Given the description of an element on the screen output the (x, y) to click on. 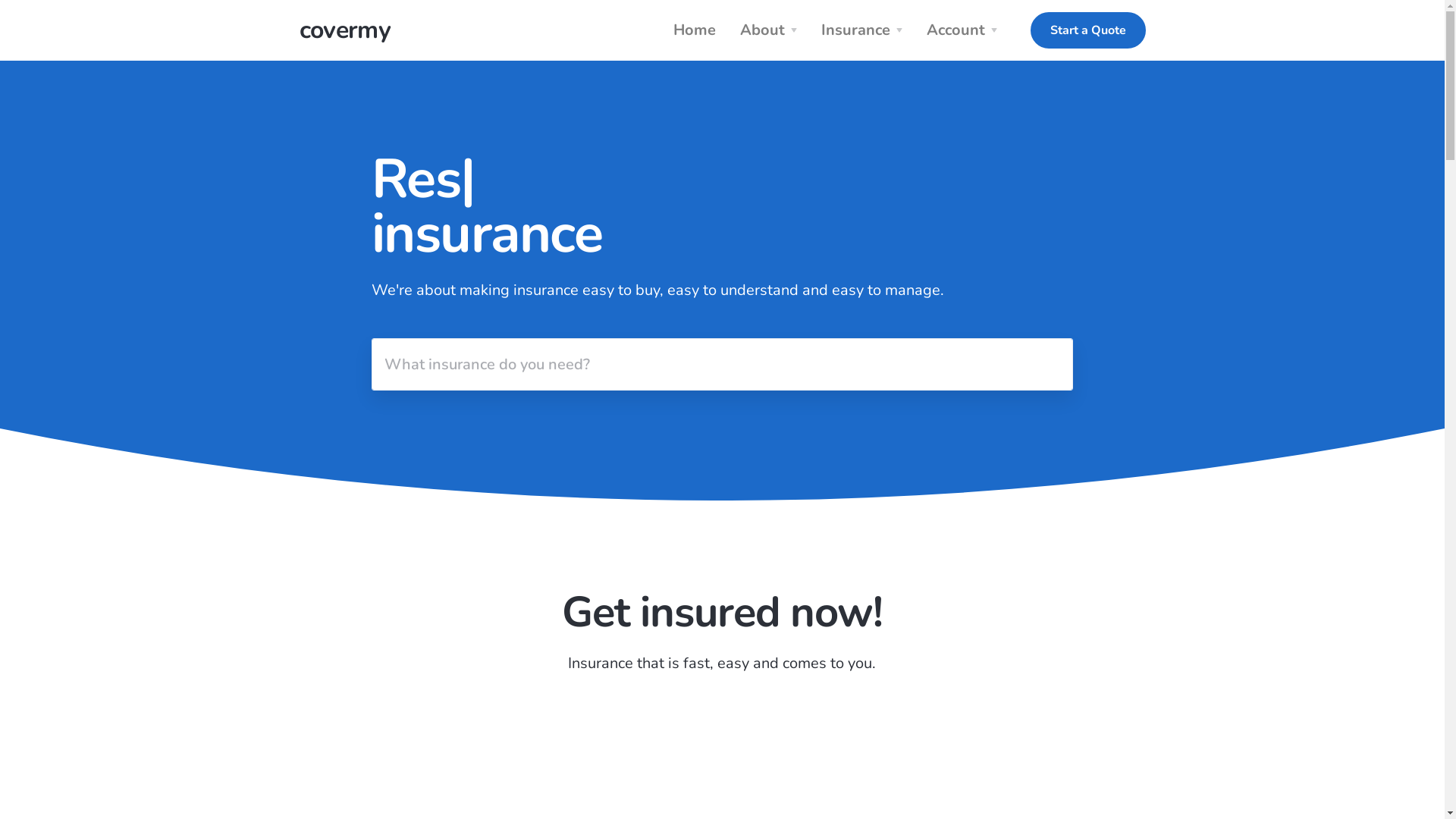
About Element type: text (771, 29)
Start a Quote Element type: text (1087, 30)
Home Element type: text (694, 29)
Account Element type: text (964, 29)
covermy Element type: text (344, 30)
Insurance Element type: text (863, 29)
